Given the description of an element on the screen output the (x, y) to click on. 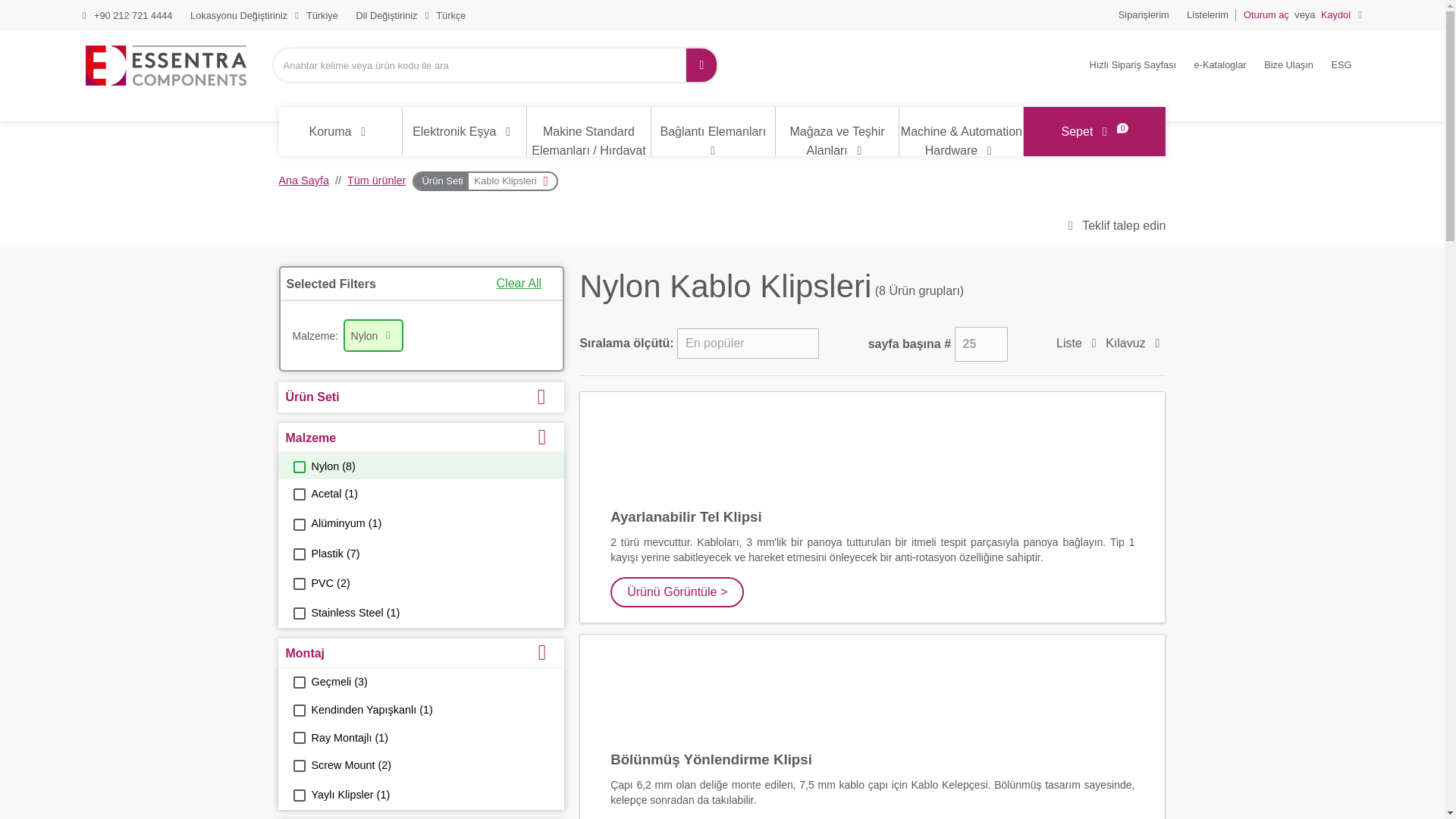
Nylon (298, 467)
Screw Mount (298, 766)
Plastik (298, 553)
PVC (298, 583)
Stainless Steel (298, 613)
Acetal (298, 494)
